Given the description of an element on the screen output the (x, y) to click on. 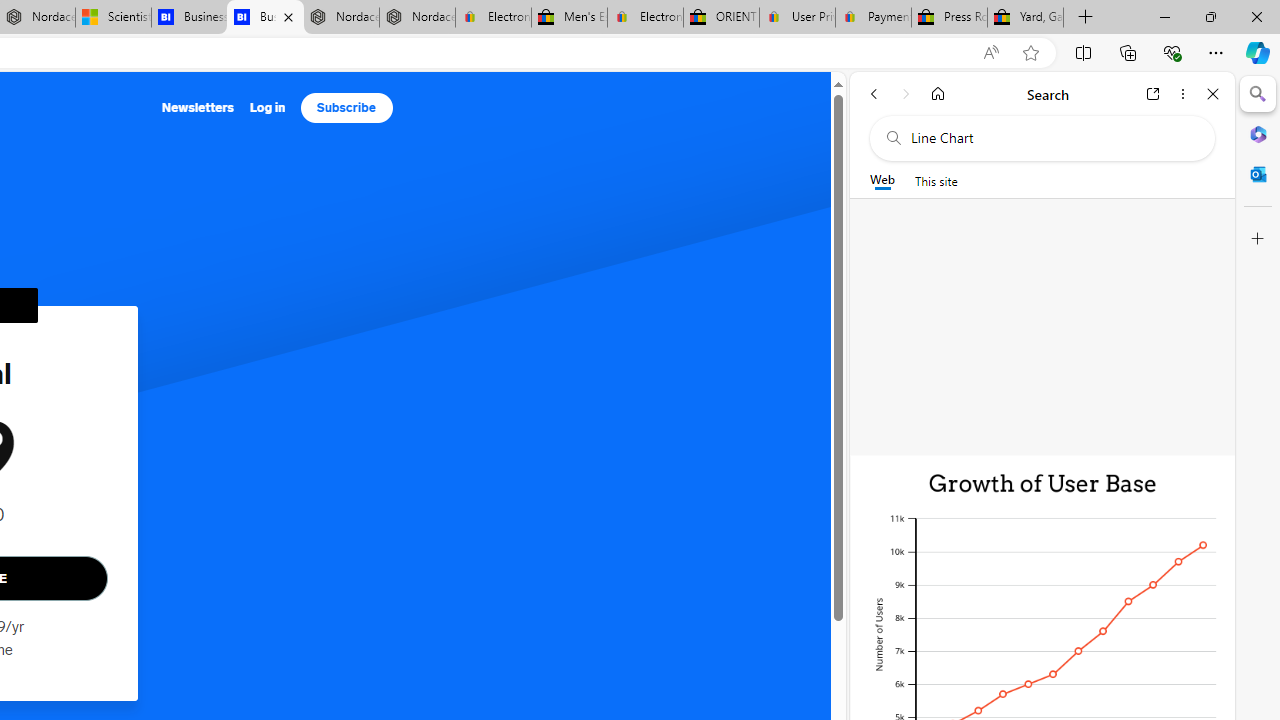
Subscribe (345, 107)
Log in (267, 107)
